Given the description of an element on the screen output the (x, y) to click on. 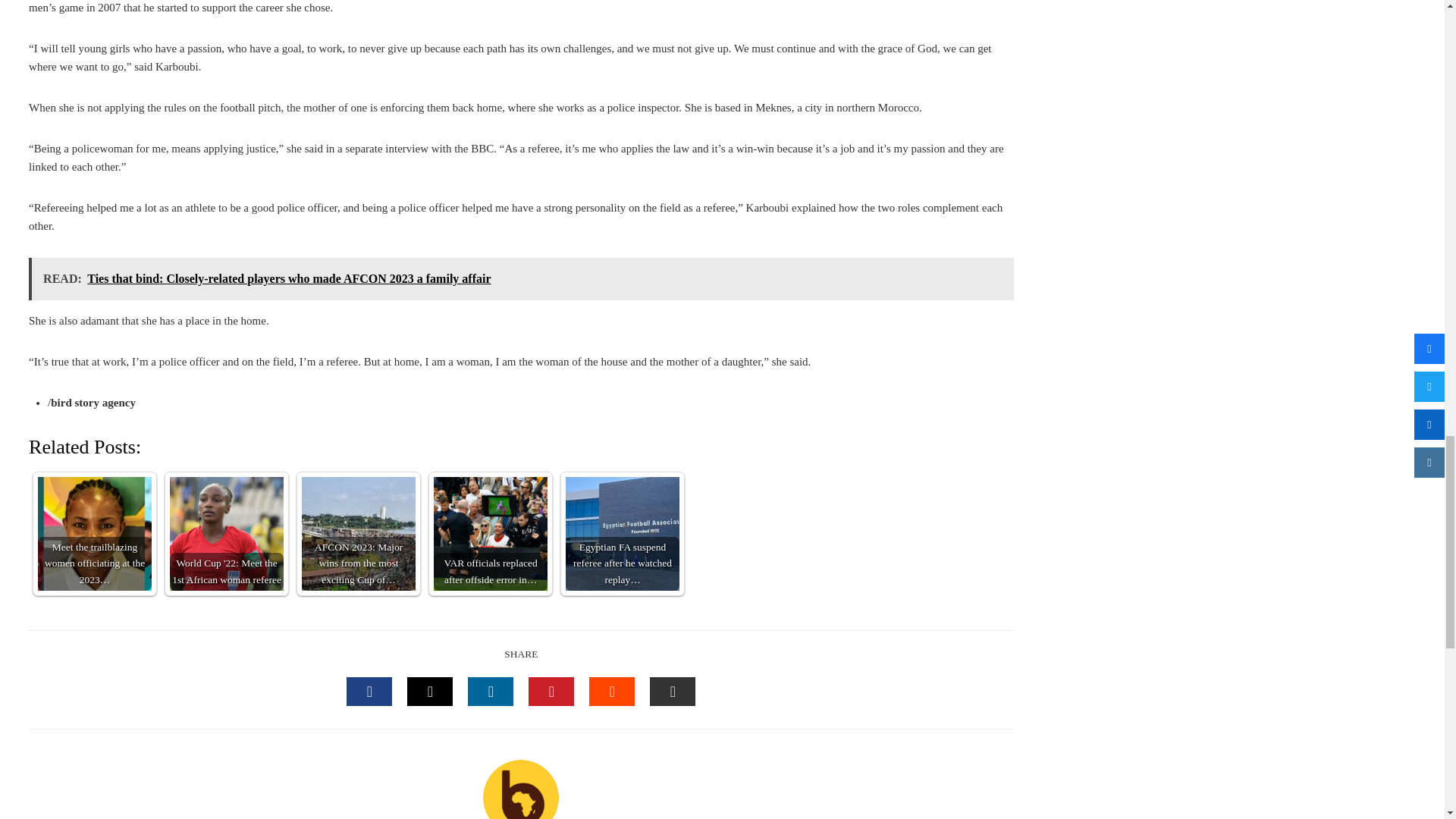
World Cup '22: Meet the 1st African woman referee (226, 533)
